Given the description of an element on the screen output the (x, y) to click on. 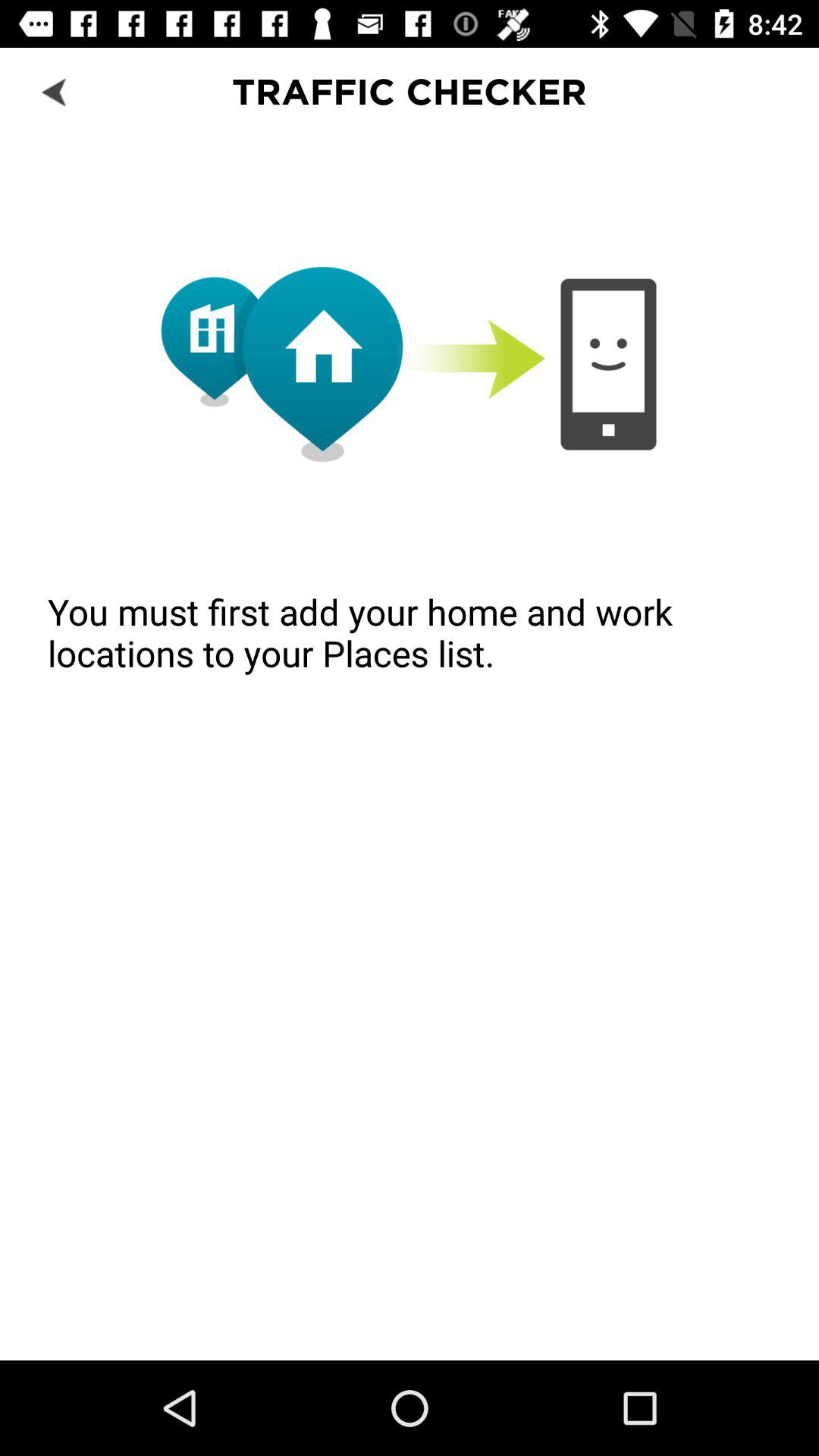
return to the previous page (55, 91)
